Given the description of an element on the screen output the (x, y) to click on. 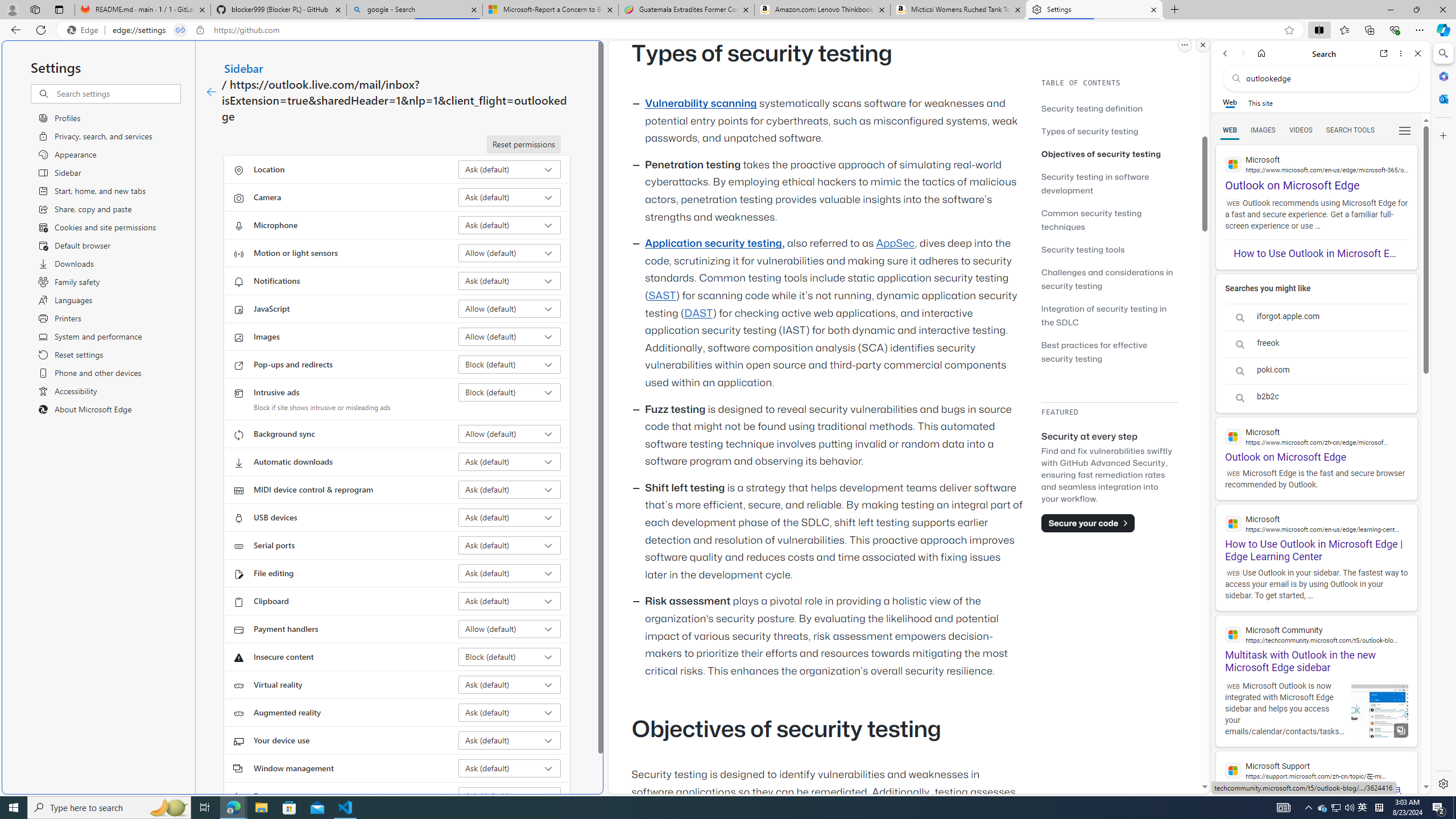
SAST (661, 295)
Multitask with Outlook in the new Microsoft Edge sidebar (1315, 644)
JavaScript Allow (default) (509, 308)
Security testing in software development (1094, 182)
iforgot.apple.com (1315, 316)
Security testing in software development (1109, 183)
Outlook on Microsoft Edge (1315, 440)
Pop-ups and redirects Block (default) (509, 364)
